Given the description of an element on the screen output the (x, y) to click on. 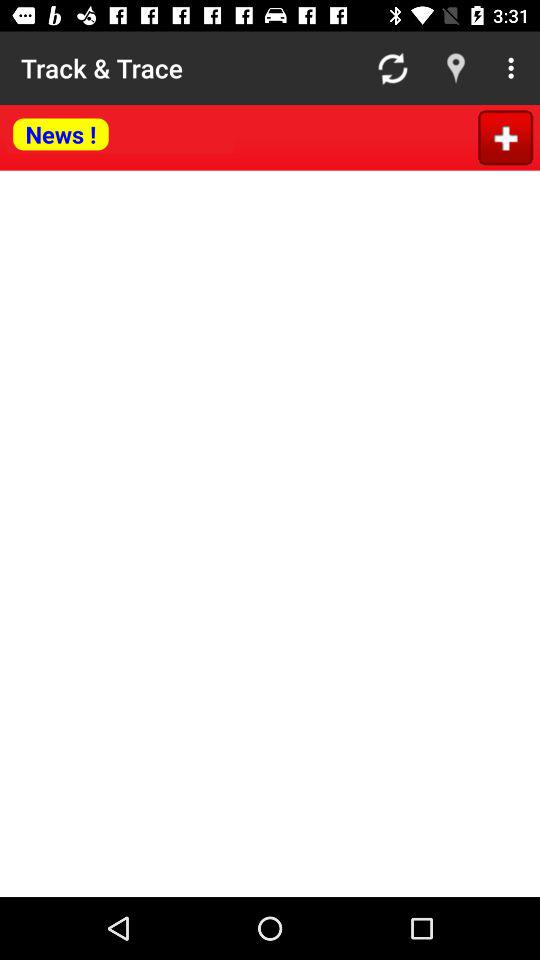
add a news (505, 137)
